Given the description of an element on the screen output the (x, y) to click on. 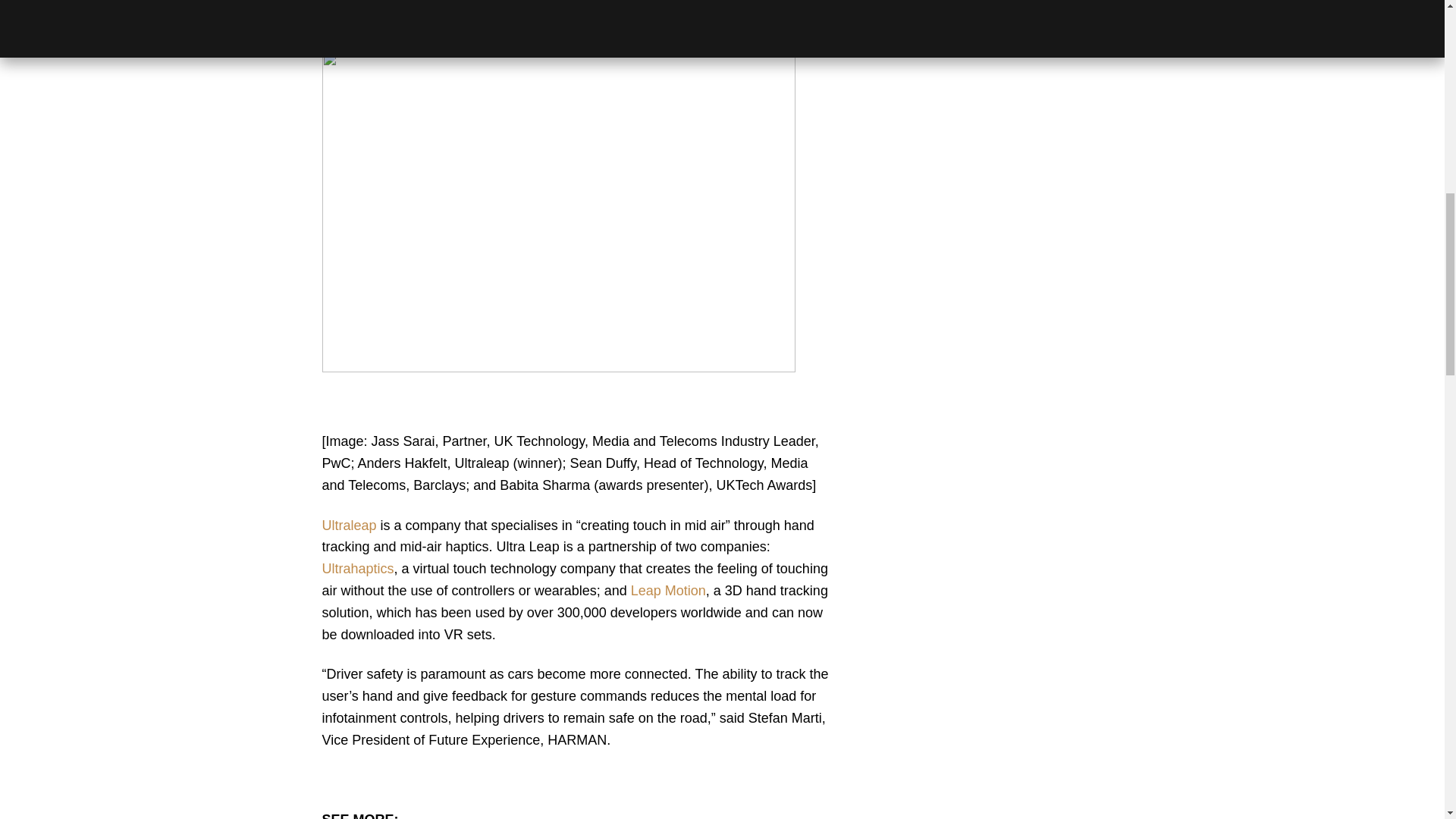
Ultraleap (350, 525)
Leap Motion (668, 590)
Ultrahaptics (357, 568)
